Given the description of an element on the screen output the (x, y) to click on. 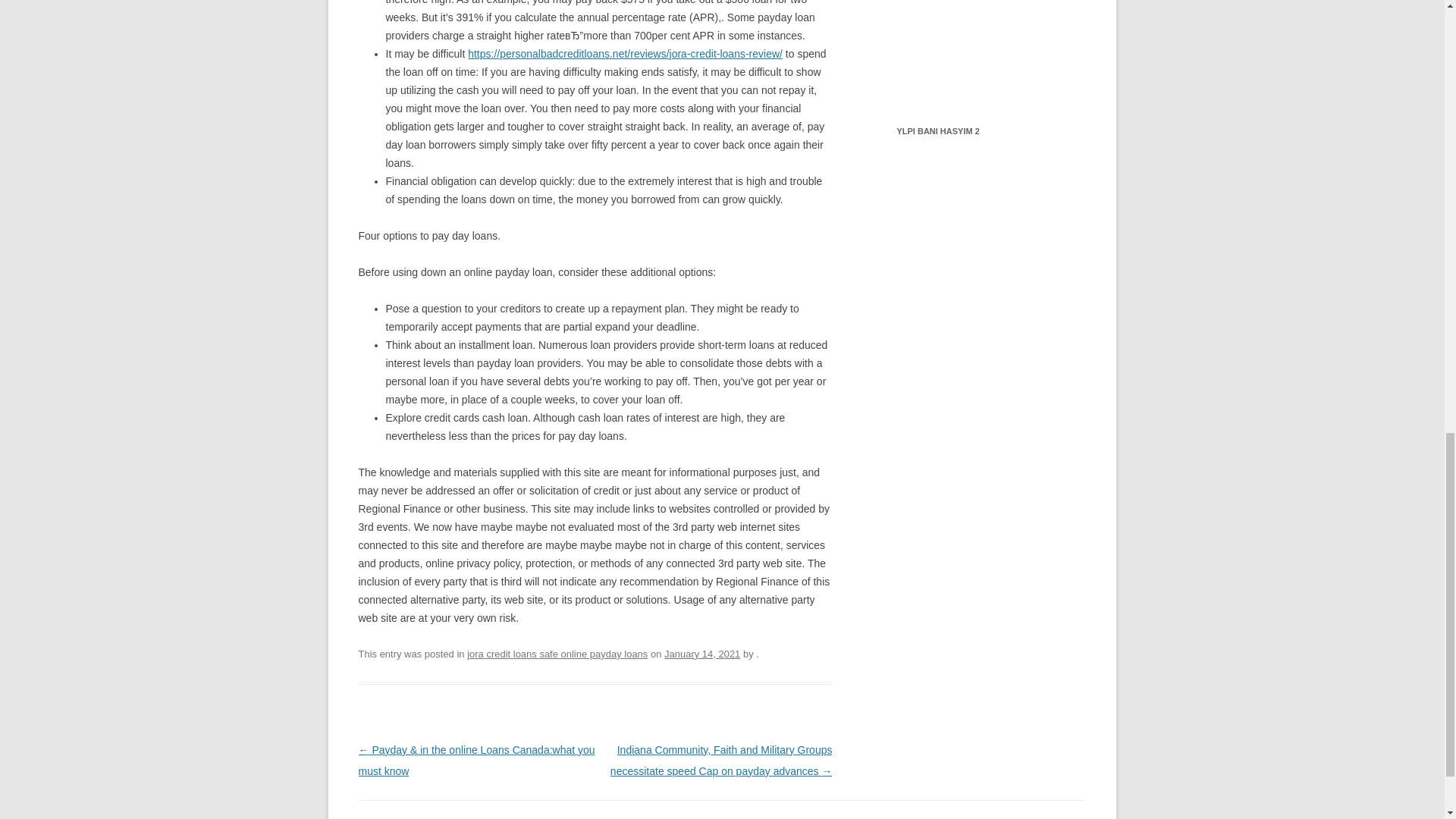
jora credit loans safe online payday loans (557, 654)
January 14, 2021 (701, 654)
1:05 pm (701, 654)
